Given the description of an element on the screen output the (x, y) to click on. 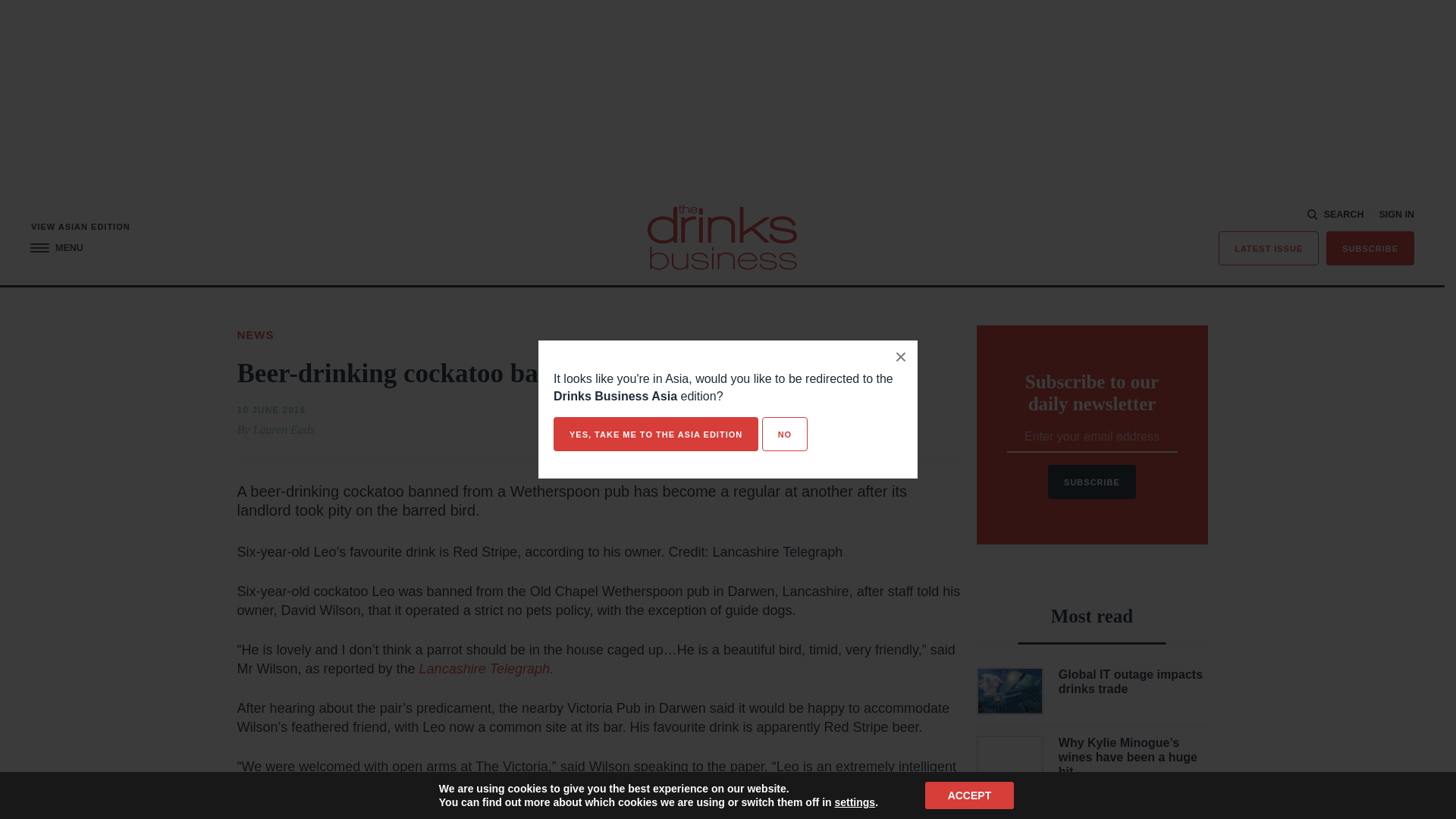
SIGN IN (1395, 214)
YES, TAKE ME TO THE ASIA EDITION (655, 433)
VIEW ASIAN EDITION (80, 226)
LATEST ISSUE (1268, 247)
SUBSCRIBE (1369, 247)
The Drinks Business (721, 237)
MENU (56, 248)
SEARCH (1335, 214)
NO (784, 433)
